Given the description of an element on the screen output the (x, y) to click on. 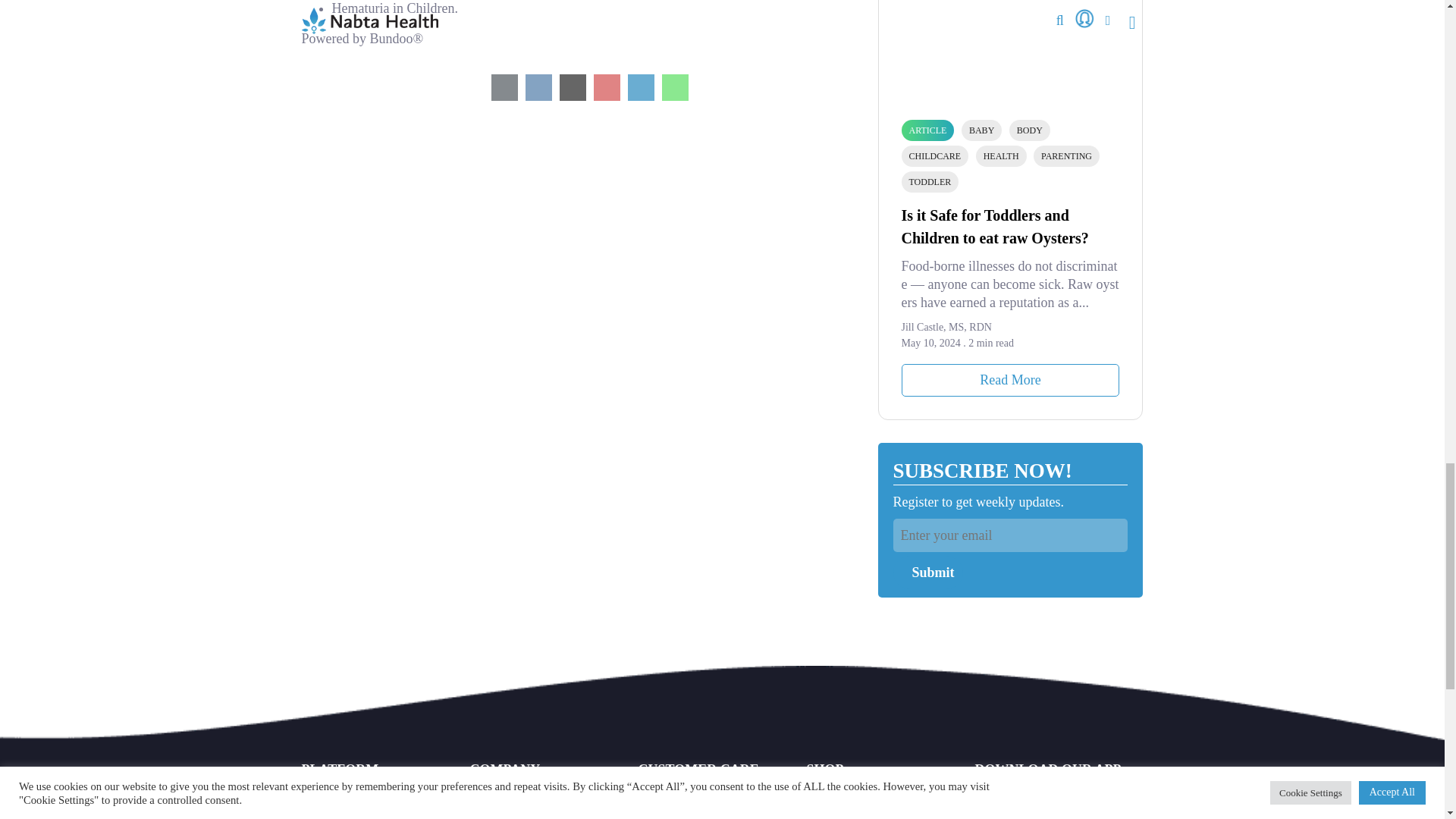
Submit (928, 572)
